Given the description of an element on the screen output the (x, y) to click on. 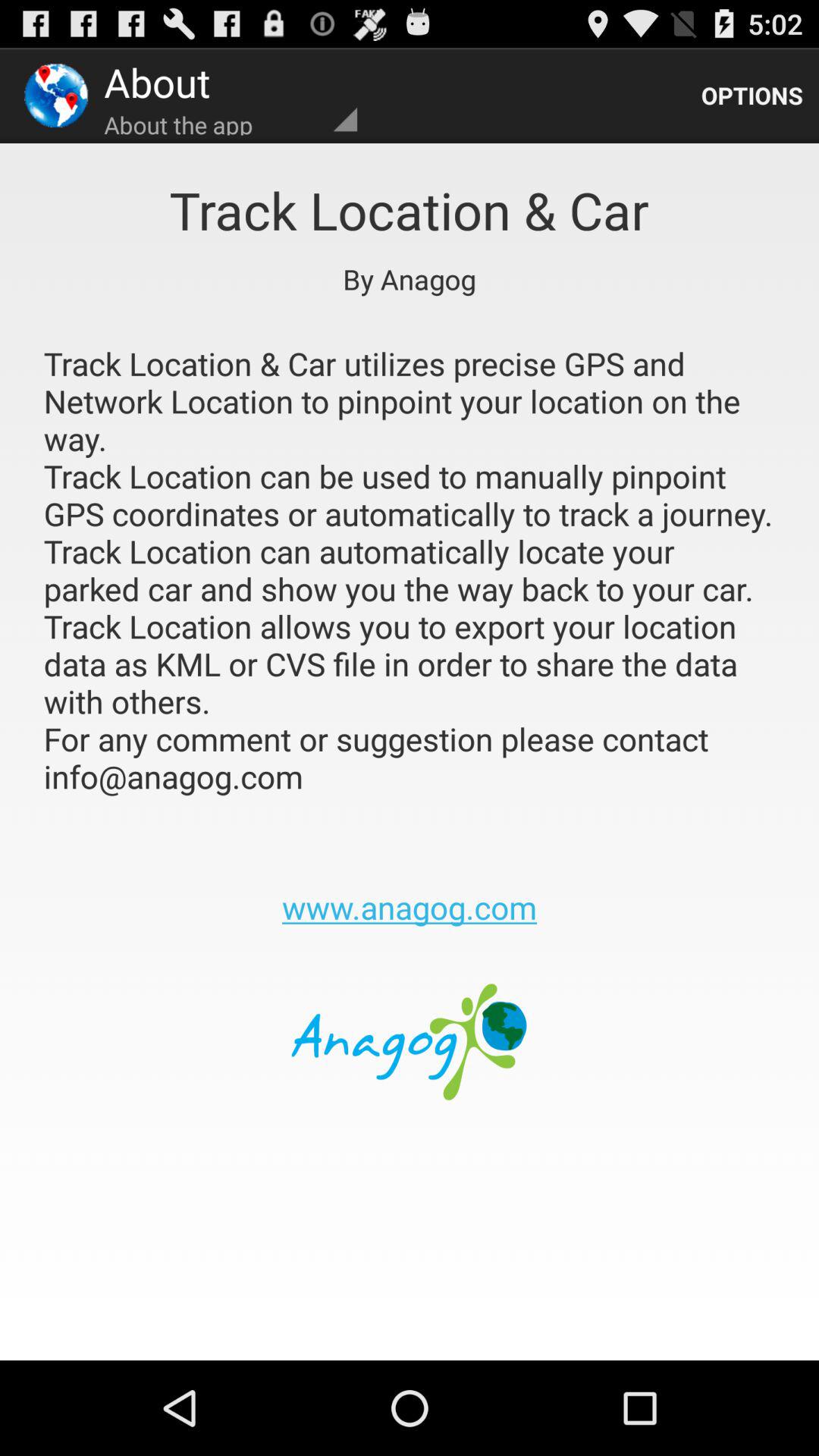
choose the options item (752, 95)
